Given the description of an element on the screen output the (x, y) to click on. 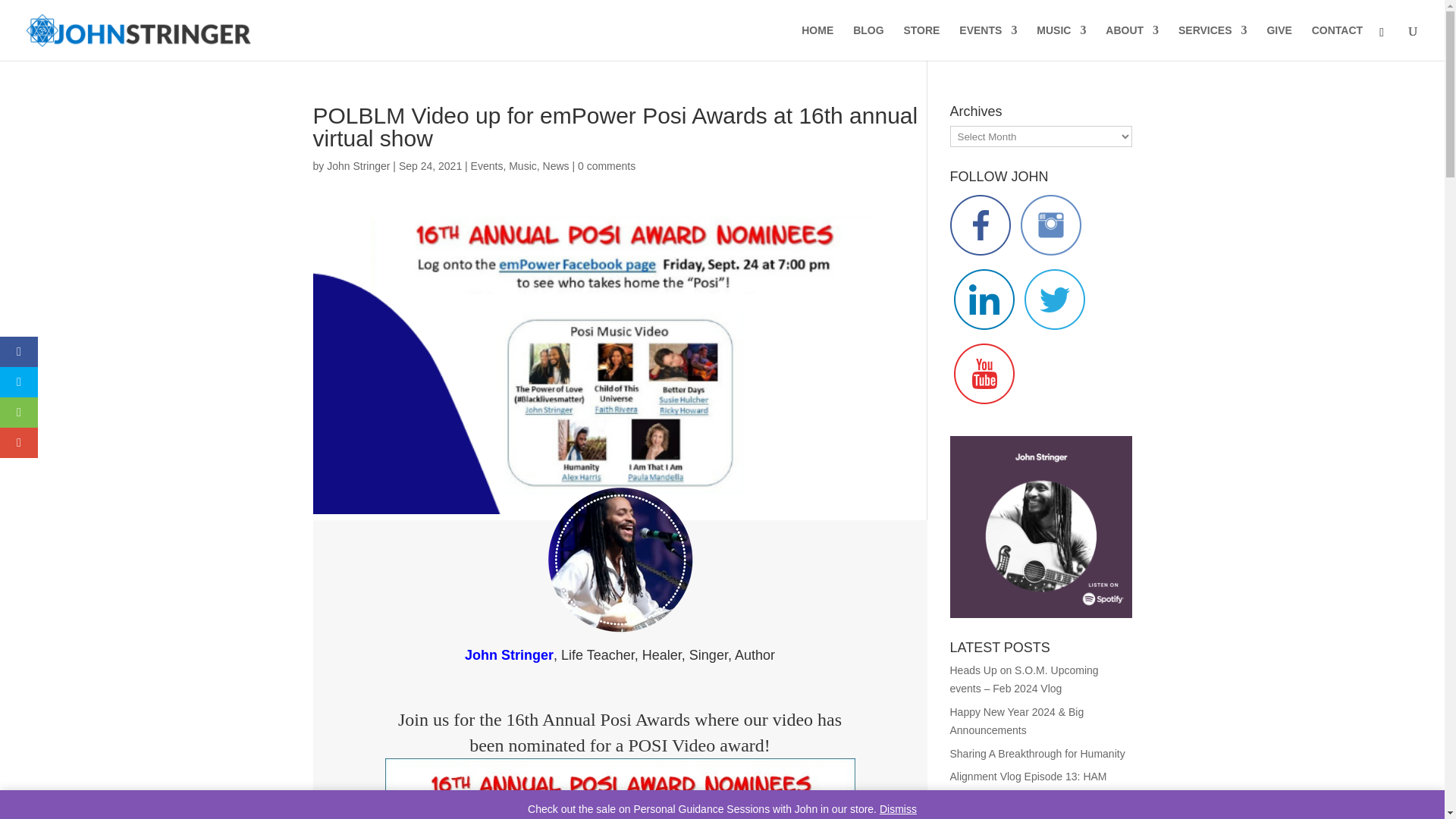
MUSIC (1061, 42)
ABOUT (1131, 42)
Posts by John Stringer (358, 165)
John Stringer (358, 165)
HOME (817, 42)
EVENTS (987, 42)
SERVICES (1212, 42)
Events (486, 165)
POSI-16 (620, 788)
CONTACT (1336, 42)
STORE (920, 42)
